Given the description of an element on the screen output the (x, y) to click on. 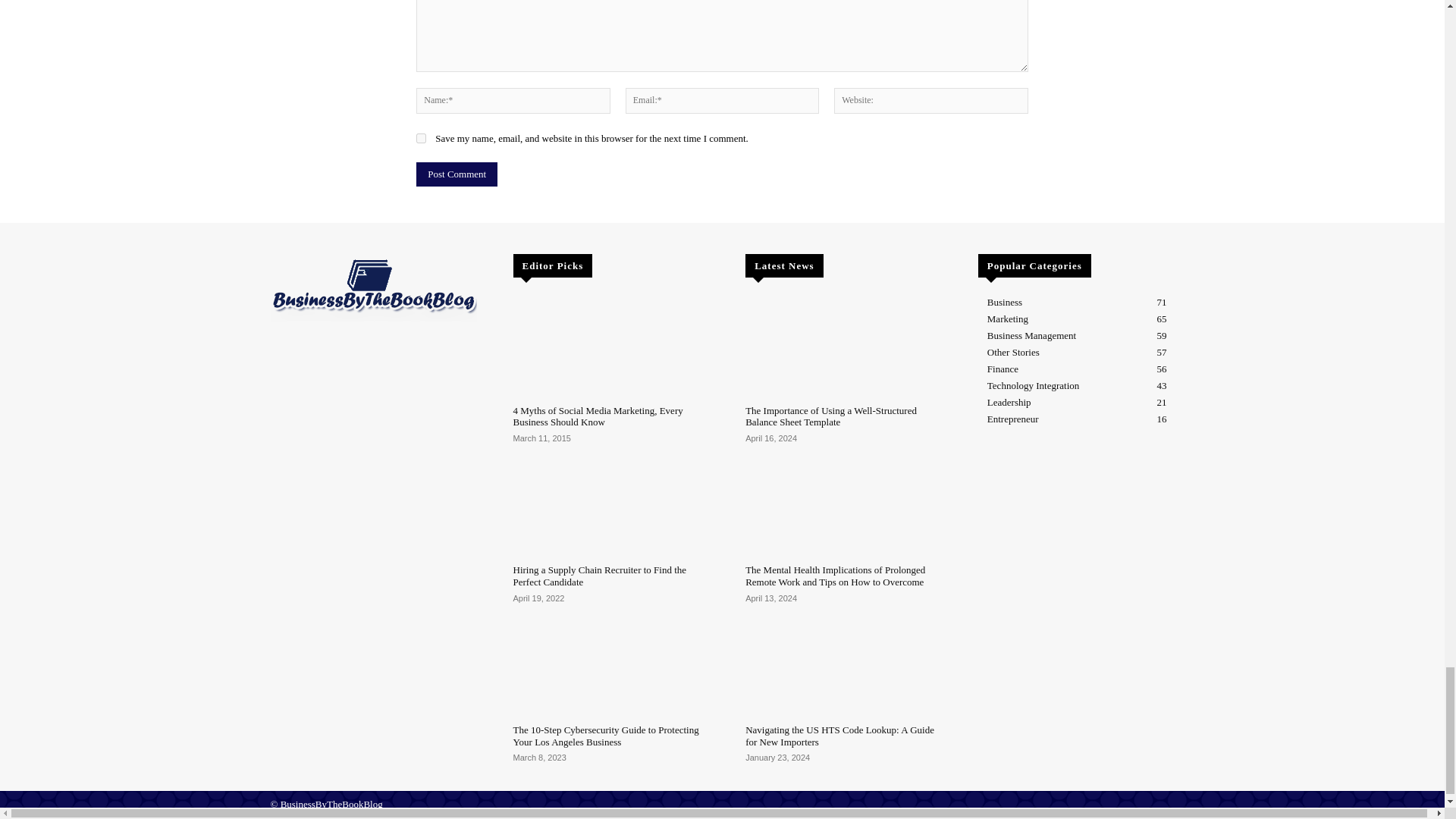
Post Comment (456, 174)
yes (421, 138)
